Given the description of an element on the screen output the (x, y) to click on. 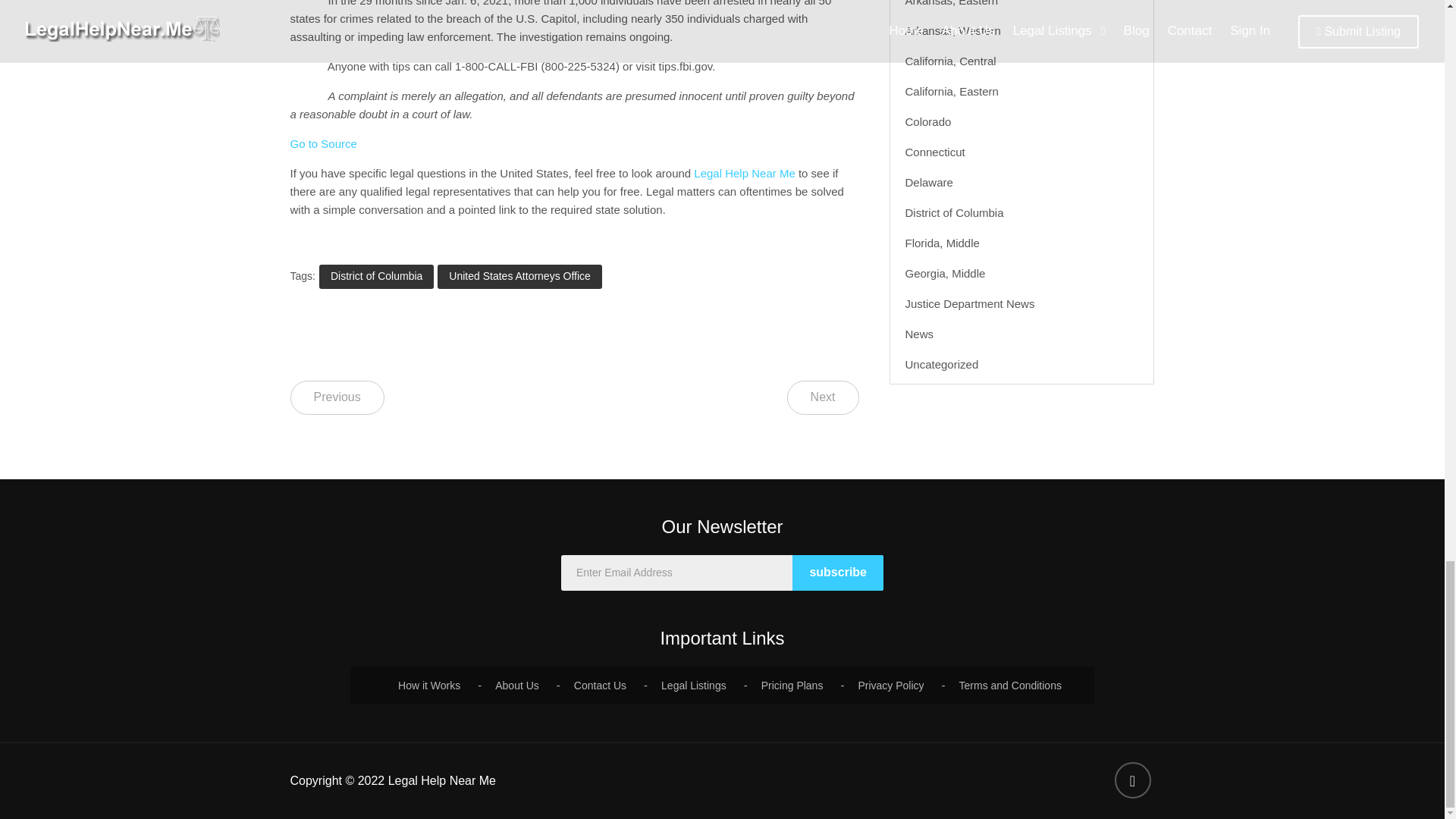
Previous (336, 397)
Legal Help Near Me (744, 173)
subscribe (837, 572)
Next (823, 397)
United States Attorneys Office (520, 276)
District of Columbia (375, 276)
Go to Source (322, 143)
